Given the description of an element on the screen output the (x, y) to click on. 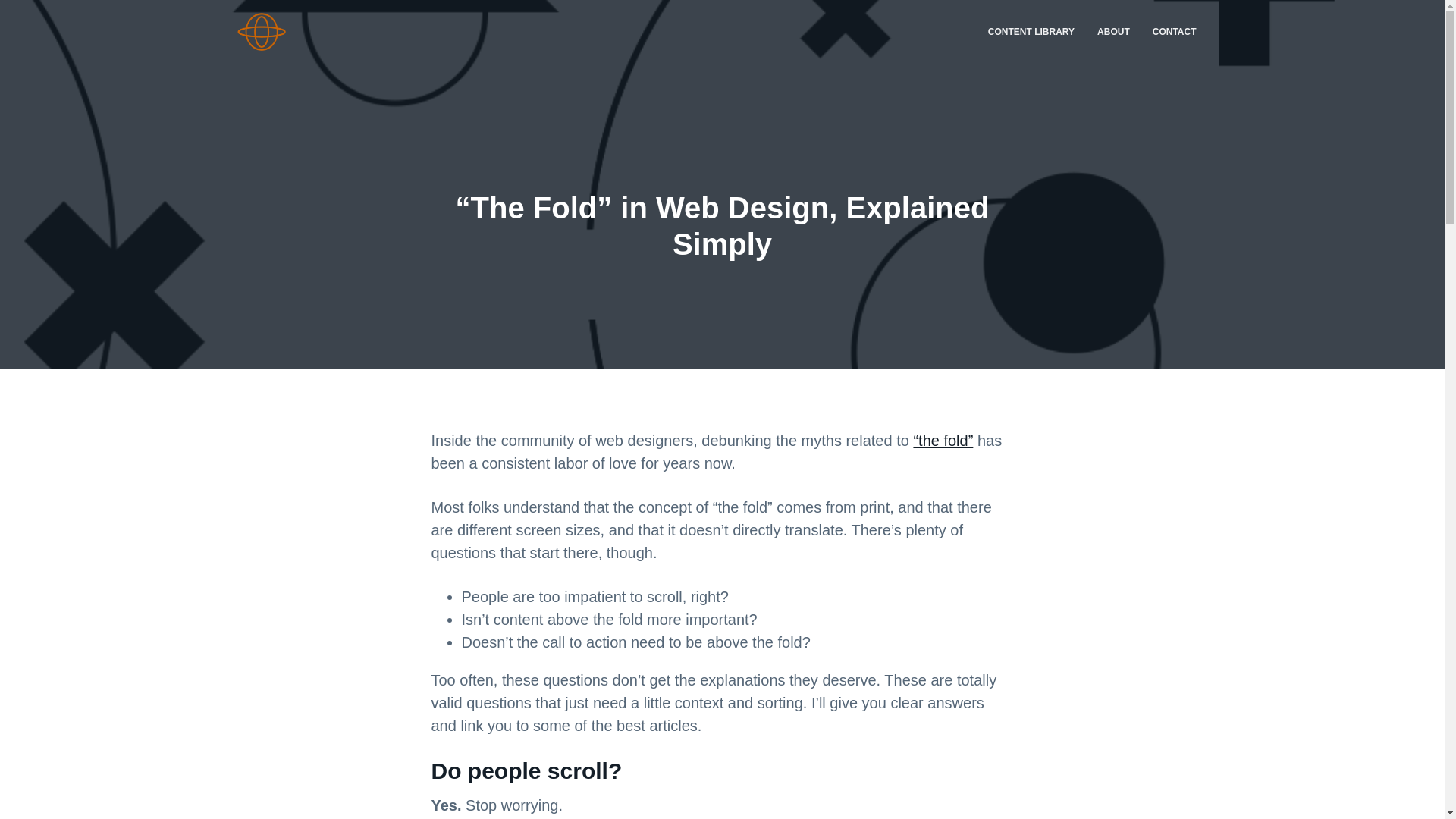
CONTENT LIBRARY (1031, 31)
LOGOS CREATIVE (292, 56)
CONTACT (1174, 31)
